Given the description of an element on the screen output the (x, y) to click on. 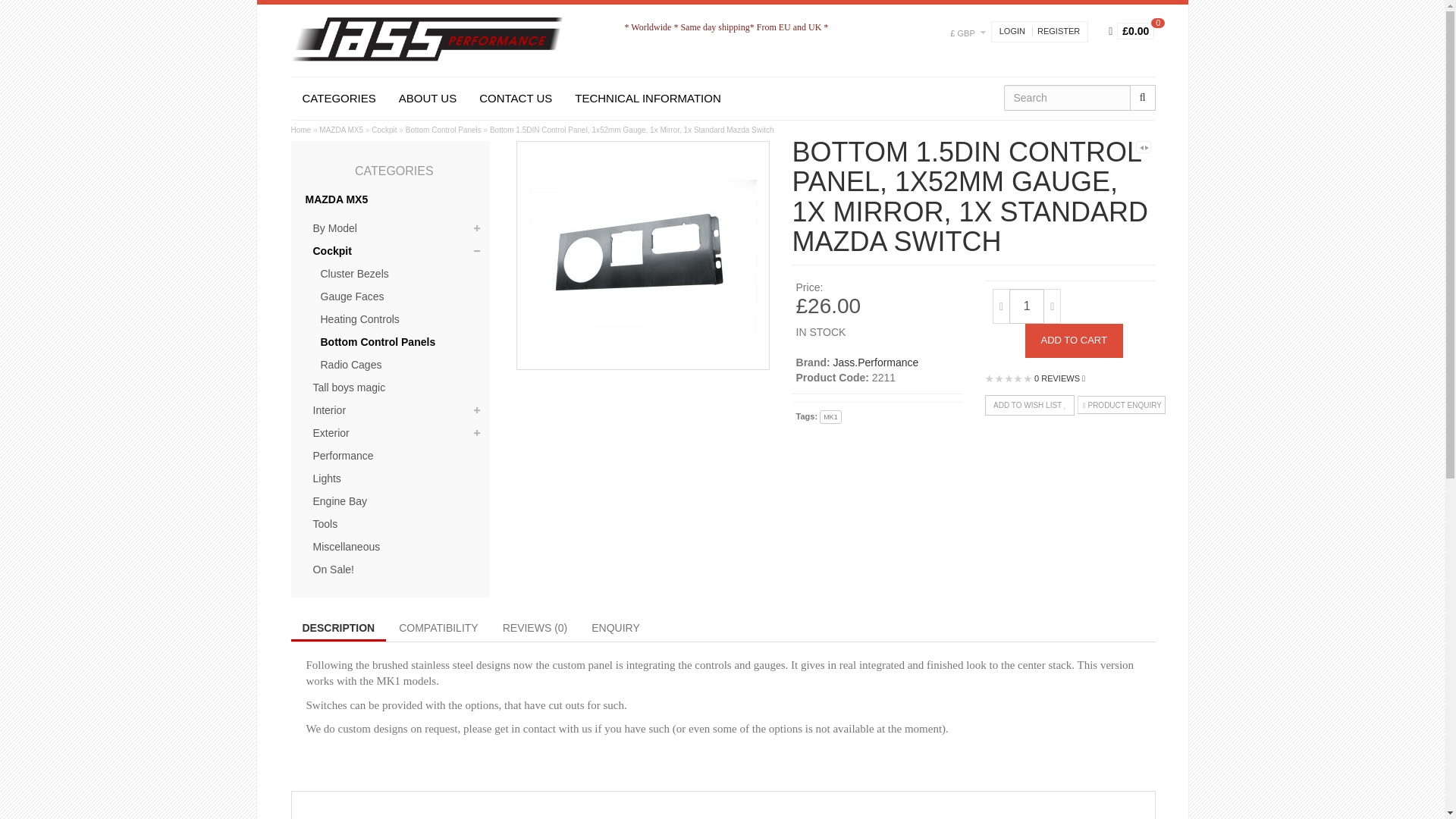
Home (301, 130)
CATEGORIES (339, 97)
Add to Cart (1073, 340)
Jass Performance (427, 38)
1 (1026, 306)
MAZDA MX5 (340, 130)
LOGIN (1011, 31)
Add to Wish List (1029, 404)
Cockpit (383, 130)
ABOUT US (427, 97)
By Model (393, 228)
MAZDA MX5 (389, 200)
